Given the description of an element on the screen output the (x, y) to click on. 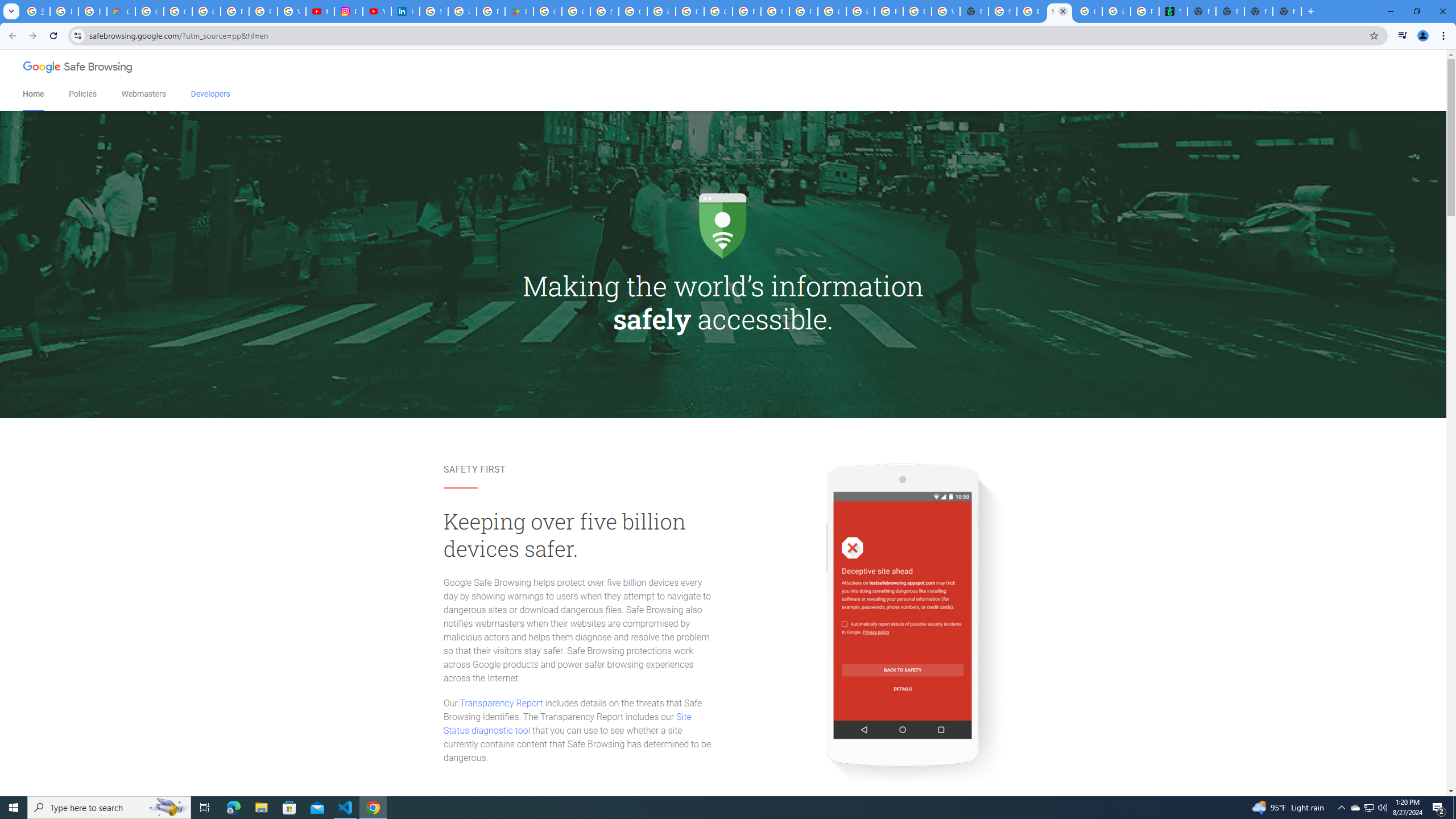
Browse Chrome as a guest - Computer - Google Chrome Help (888, 11)
Sign in - Google Accounts (604, 11)
#nbabasketballhighlights - YouTube (320, 11)
Privacy Help Center - Policies Help (263, 11)
